Given the description of an element on the screen output the (x, y) to click on. 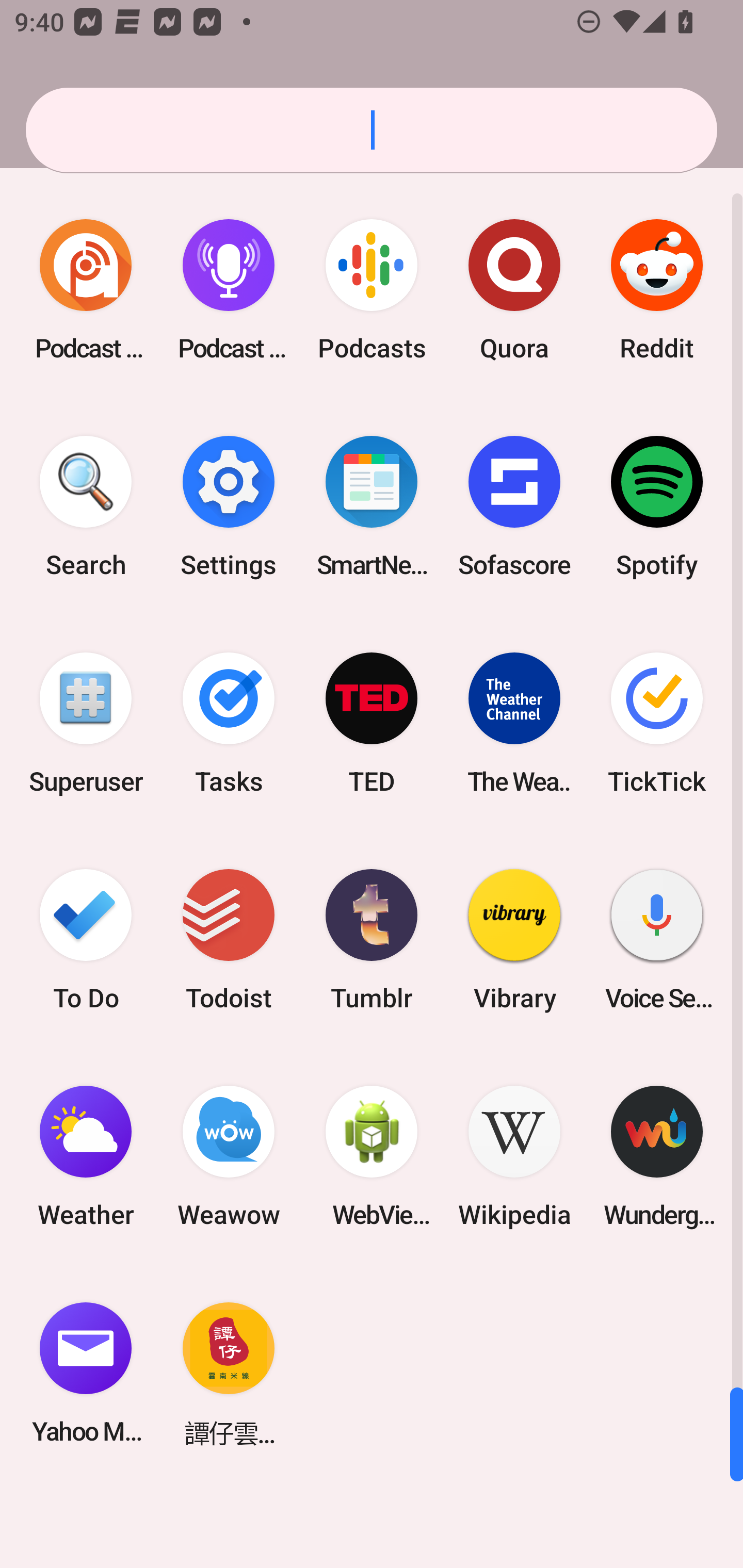
  Search apps (371, 130)
Podcast Addict (85, 289)
Podcast Player (228, 289)
Podcasts (371, 289)
Quora (514, 289)
Reddit (656, 289)
Search (85, 506)
Settings (228, 506)
SmartNews (371, 506)
Sofascore (514, 506)
Spotify (656, 506)
Superuser (85, 722)
Tasks (228, 722)
TED (371, 722)
The Weather Channel (514, 722)
TickTick (656, 722)
To Do (85, 939)
Todoist (228, 939)
Tumblr (371, 939)
Vibrary (514, 939)
Voice Search (656, 939)
Weather (85, 1156)
Weawow (228, 1156)
WebView Browser Tester (371, 1156)
Wikipedia (514, 1156)
Wunderground (656, 1156)
Yahoo Mail (85, 1373)
譚仔雲南米線 (228, 1373)
